Given the description of an element on the screen output the (x, y) to click on. 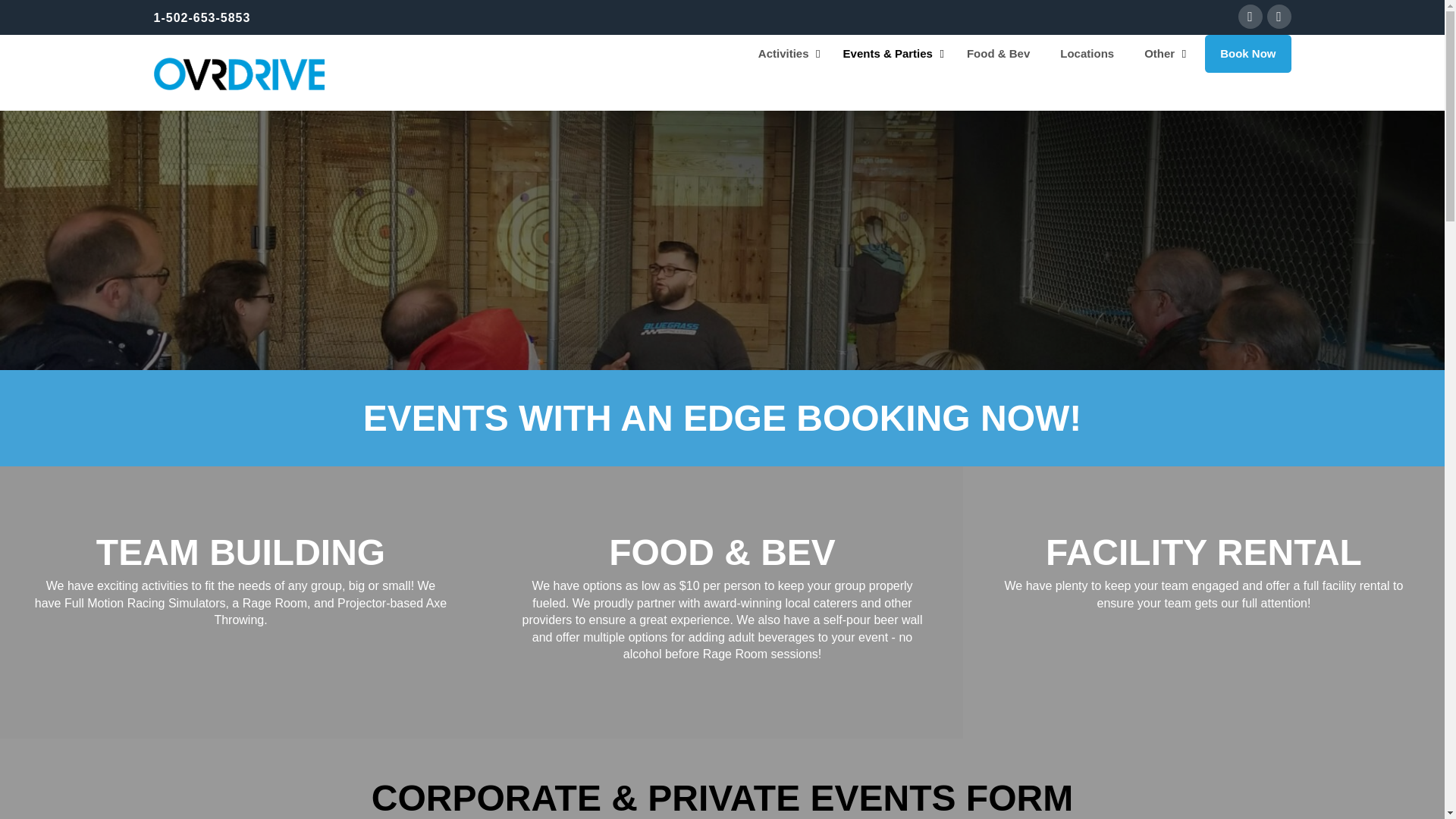
Instagram (1278, 16)
1-502-653-5853 (201, 17)
Virtual Reality and Racing Simulators (237, 73)
Locations (1087, 53)
Other (1161, 53)
Book Now (1247, 53)
Facebook (1249, 16)
Activities (785, 53)
